Given the description of an element on the screen output the (x, y) to click on. 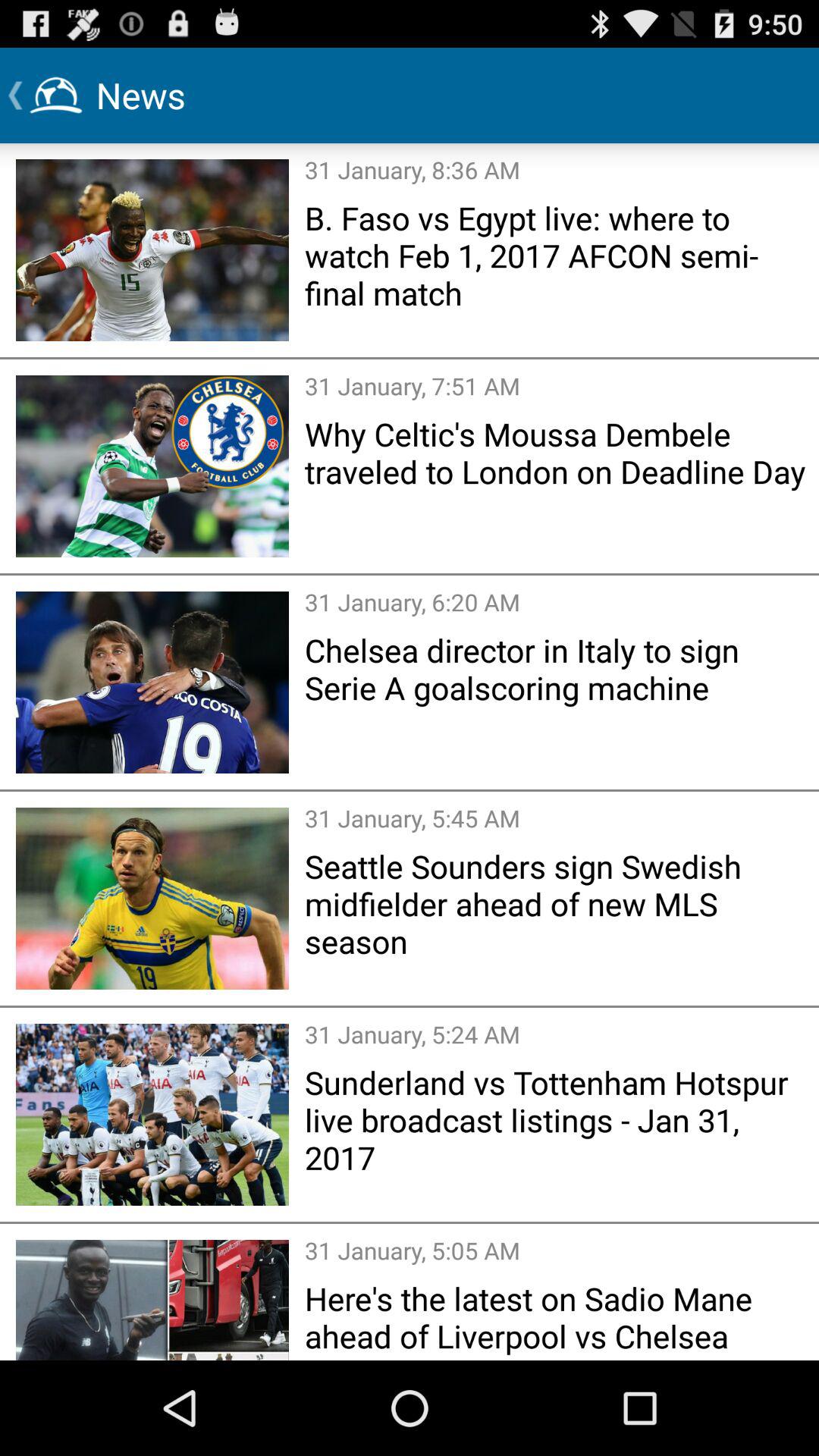
flip until the chelsea director in icon (556, 668)
